Given the description of an element on the screen output the (x, y) to click on. 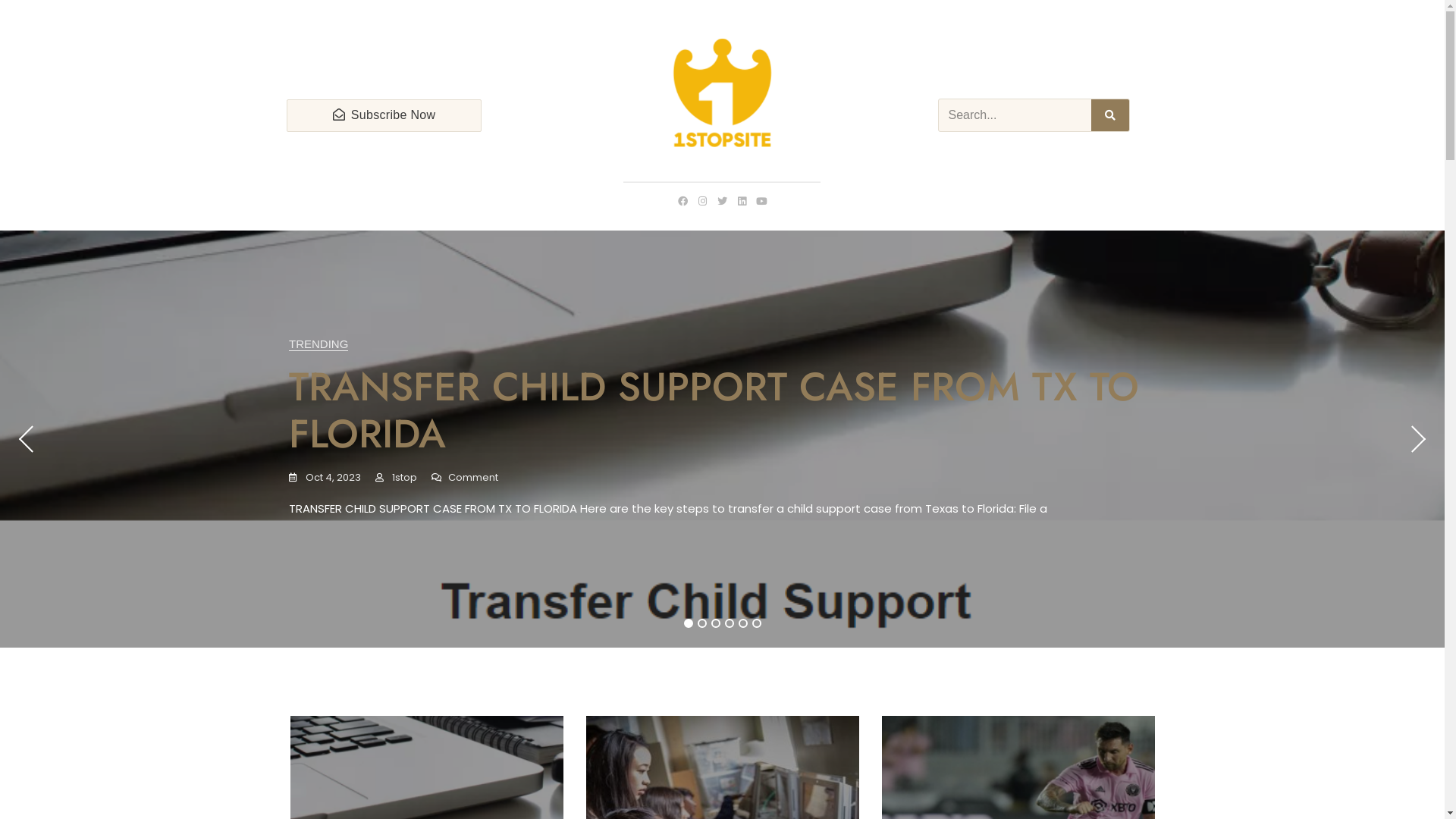
1stop Element type: text (396, 478)
TRENDING Element type: text (318, 344)
TRANSFER CHILD SUPPORT CASE FROM TX TO FLORIDA Element type: text (713, 409)
Comment Element type: text (464, 478)
2 Element type: text (701, 622)
5 Element type: text (742, 622)
4 Element type: text (729, 622)
1 Element type: text (688, 622)
6 Element type: text (756, 622)
Subscribe Now Element type: text (384, 115)
Oct 4, 2023 Element type: text (324, 478)
3 Element type: text (715, 622)
